Given the description of an element on the screen output the (x, y) to click on. 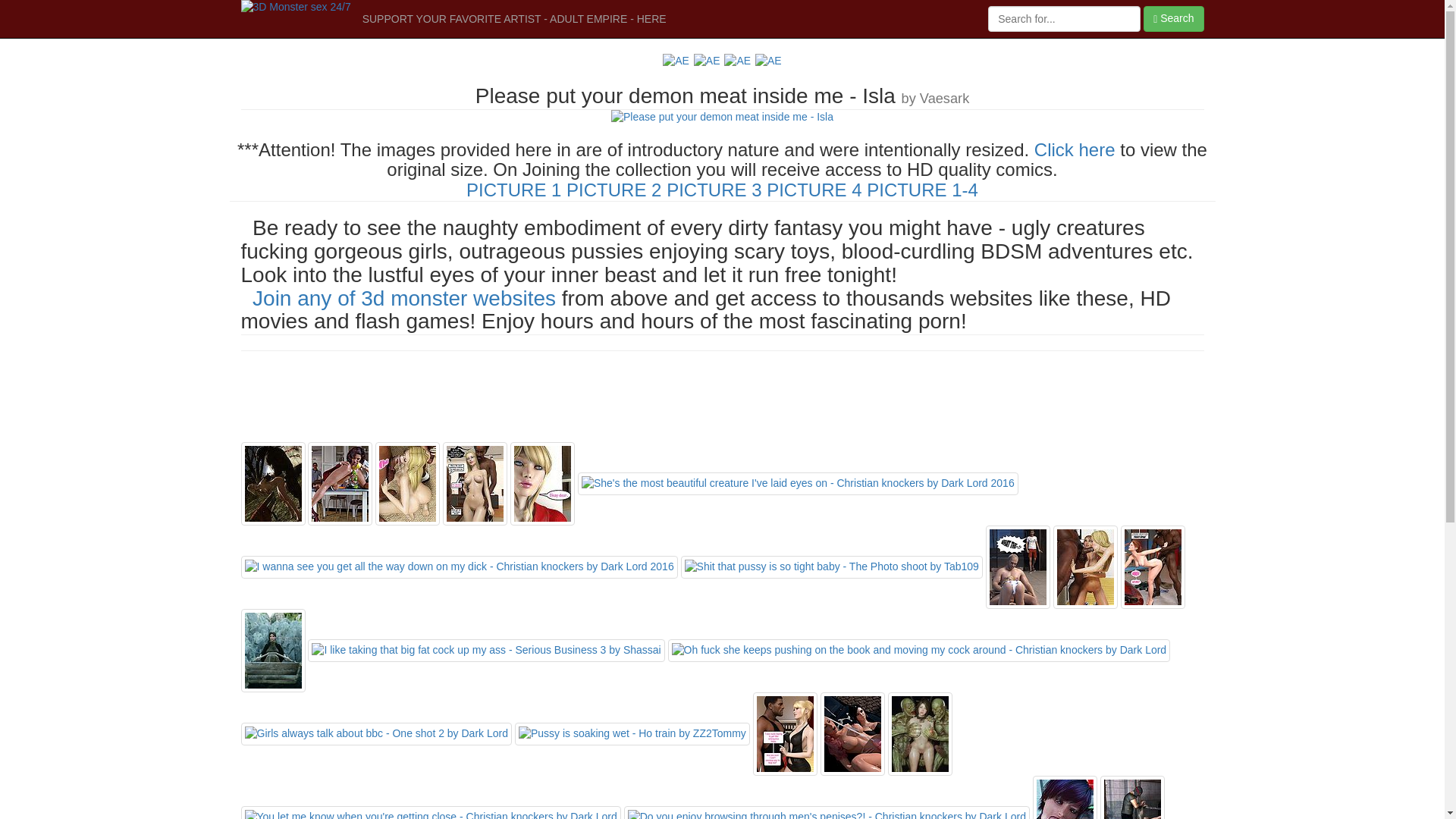
Join any of 3d monster websites Element type: text (403, 298)
Search Element type: text (1173, 18)
SUPPORT YOUR FAVORITE ARTIST - ADULT EMPIRE - HERE Element type: text (514, 18)
PICTURE 2 Element type: text (613, 189)
PICTURE 1 Element type: text (513, 189)
PICTURE 4 Element type: text (813, 189)
PICTURE 1-4 Element type: text (922, 189)
Click here Element type: text (1074, 149)
PICTURE 3 Element type: text (713, 189)
